Given the description of an element on the screen output the (x, y) to click on. 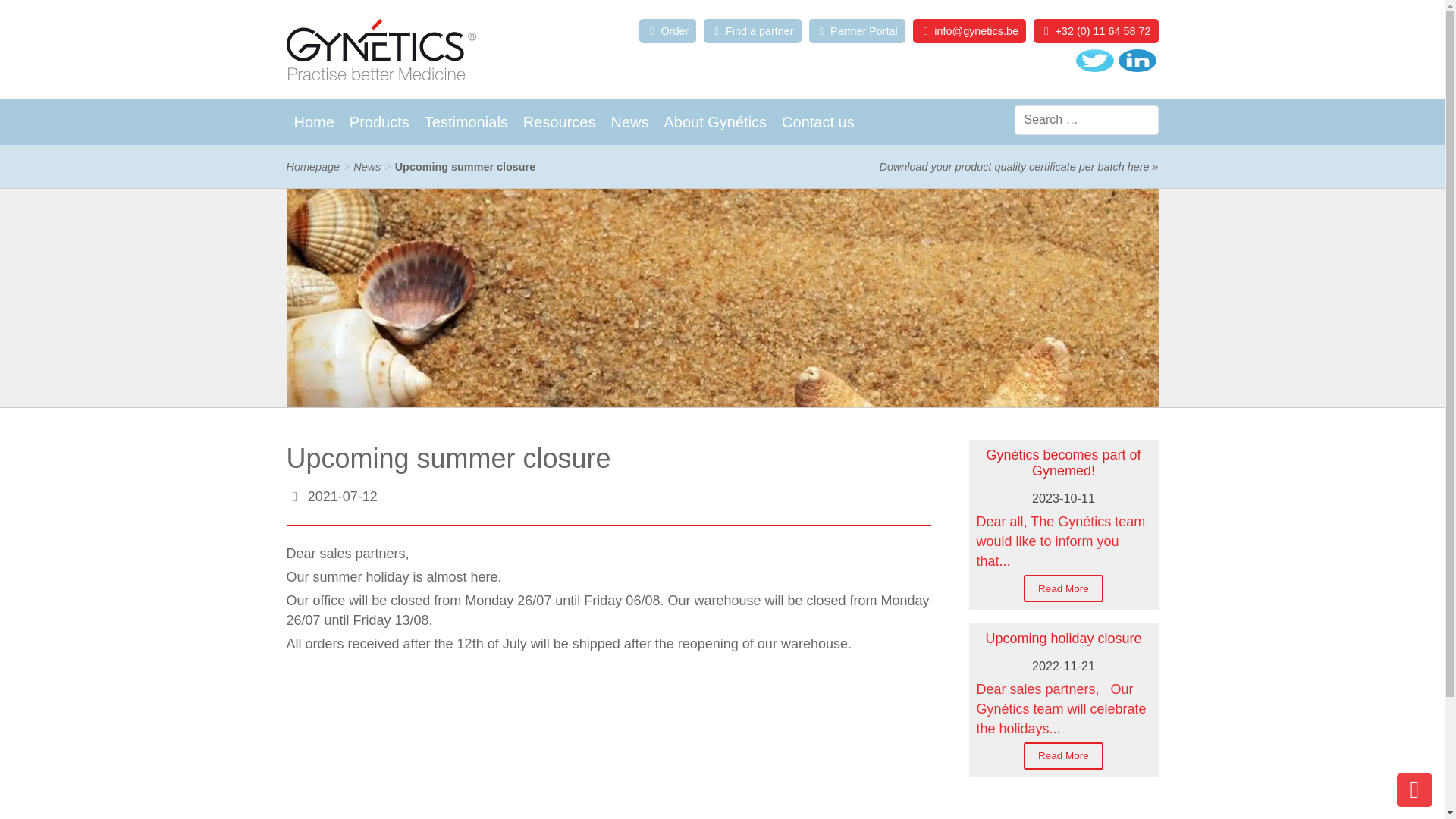
Home (314, 121)
Products (379, 121)
Read More (1063, 587)
Upcoming summer closure (464, 166)
Testimonials (465, 121)
Find a partner (752, 29)
Search (137, 17)
Homepage (312, 166)
Upcoming holiday closure (1063, 638)
Contact us (817, 121)
Partner Portal (856, 29)
Resources (559, 121)
Search for: (1086, 120)
News (366, 166)
Homepage (312, 166)
